Given the description of an element on the screen output the (x, y) to click on. 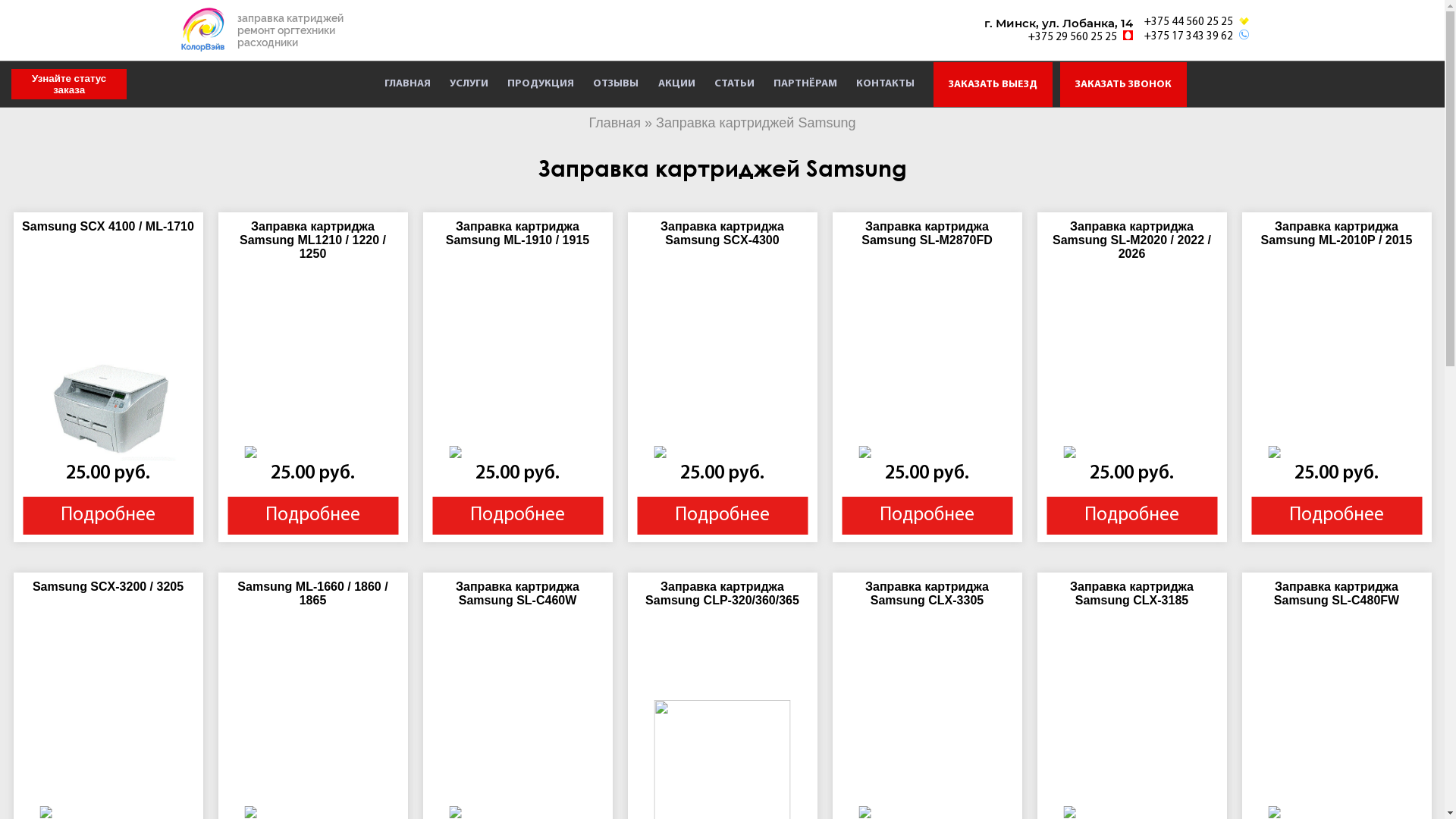
Samsung SCX-3200 / 3205 Element type: text (107, 586)
Samsung SCX 4100 / ML-1710 Element type: text (107, 225)
Samsung ML-1660 / 1860 / 1865 Element type: text (312, 593)
